Given the description of an element on the screen output the (x, y) to click on. 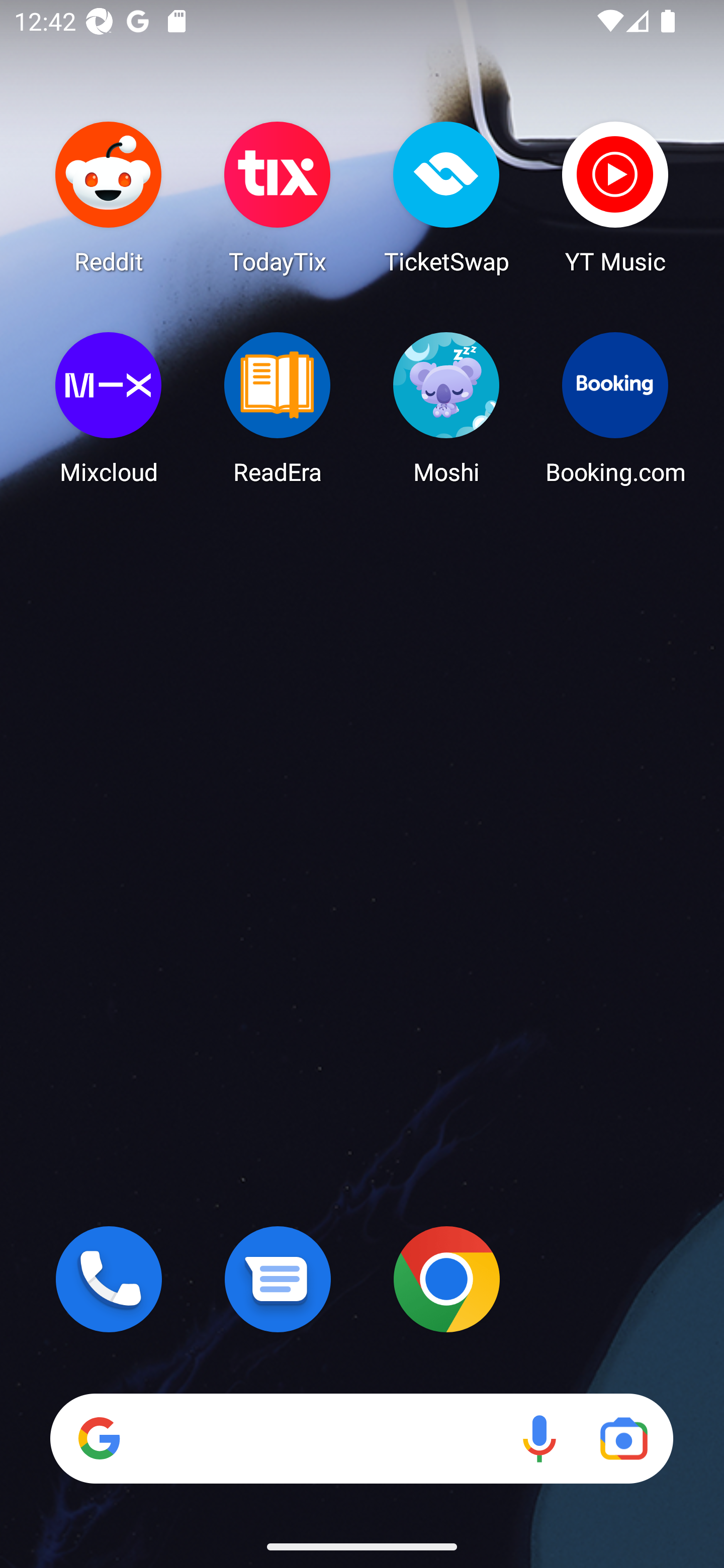
Reddit (108, 196)
TodayTix (277, 196)
TicketSwap (445, 196)
YT Music (615, 196)
Mixcloud (108, 407)
ReadEra (277, 407)
Moshi (445, 407)
Booking.com (615, 407)
Phone (108, 1279)
Messages (277, 1279)
Chrome (446, 1279)
Search Voice search Google Lens (361, 1438)
Voice search (539, 1438)
Google Lens (623, 1438)
